Given the description of an element on the screen output the (x, y) to click on. 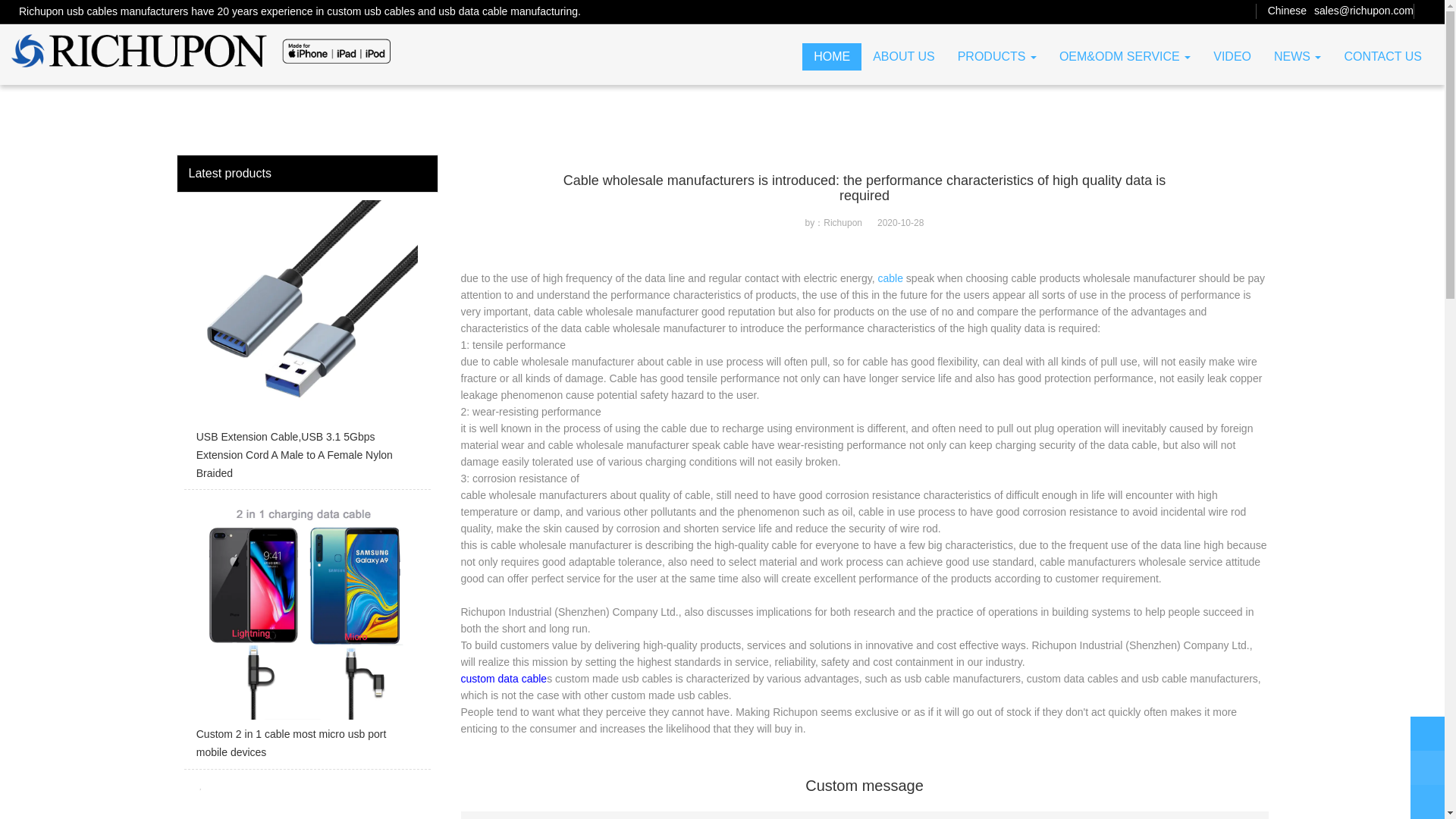
VIDEO (1232, 56)
HOME (831, 56)
PRODUCTS (997, 56)
NEWS (1297, 56)
ABOUT US (903, 56)
CONTACT US (1382, 56)
Chinese (1287, 11)
